Given the description of an element on the screen output the (x, y) to click on. 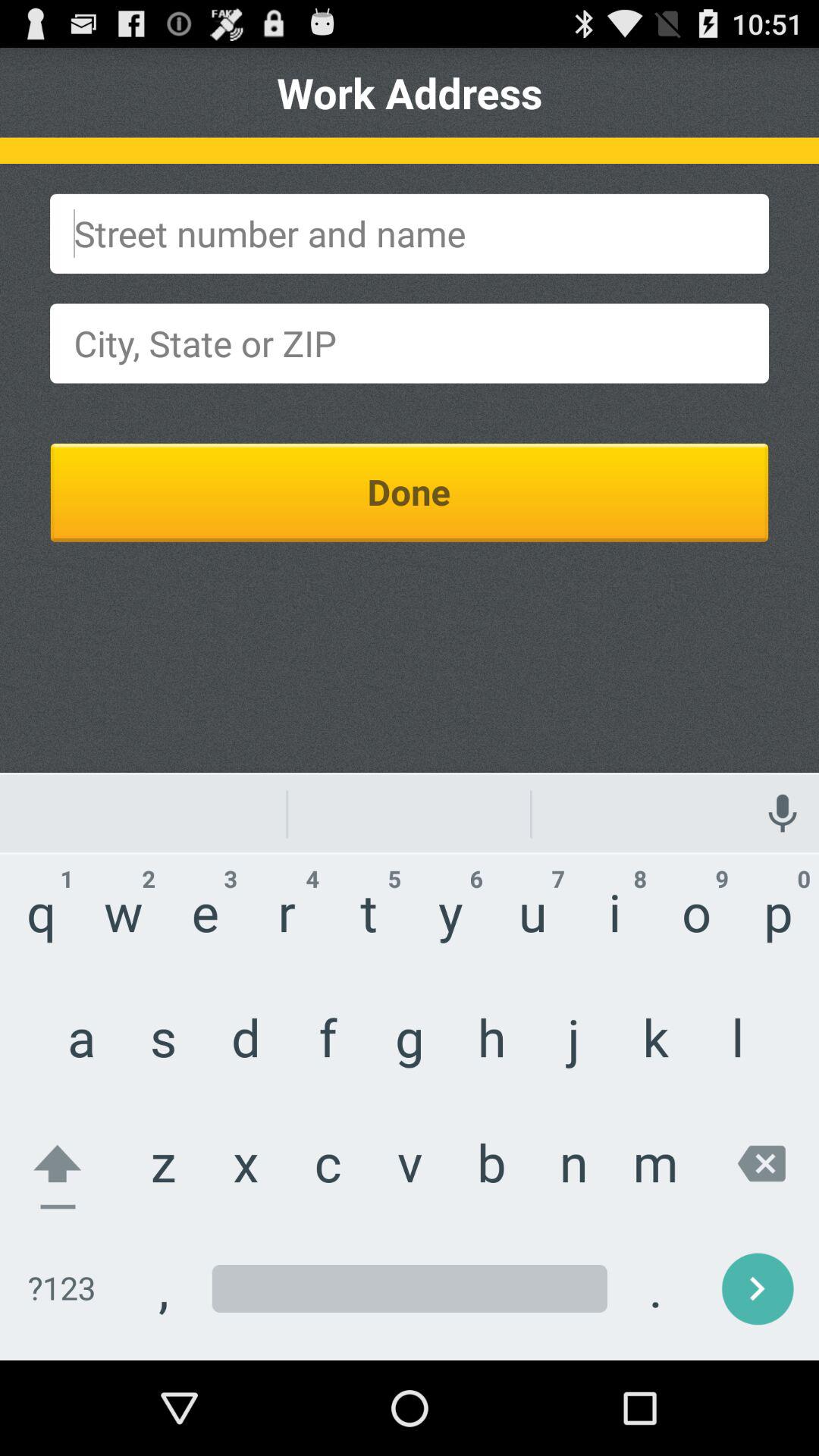
enter city state or zip (409, 343)
